Given the description of an element on the screen output the (x, y) to click on. 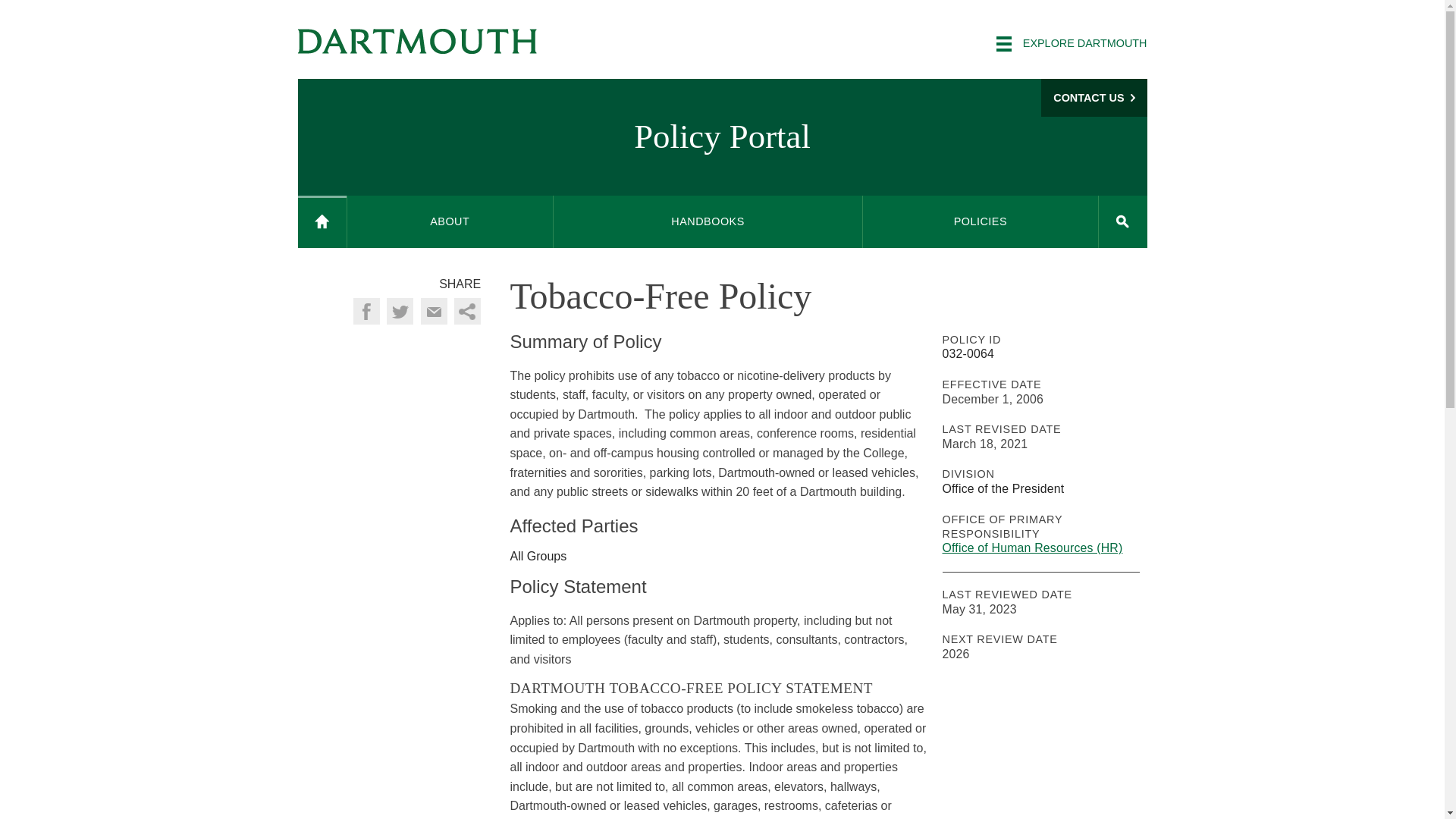
HANDBOOKS (707, 221)
Home (321, 221)
Dartmouth College (417, 41)
POLICIES (980, 221)
EXPLORE DARTMOUTH (1071, 43)
